Given the description of an element on the screen output the (x, y) to click on. 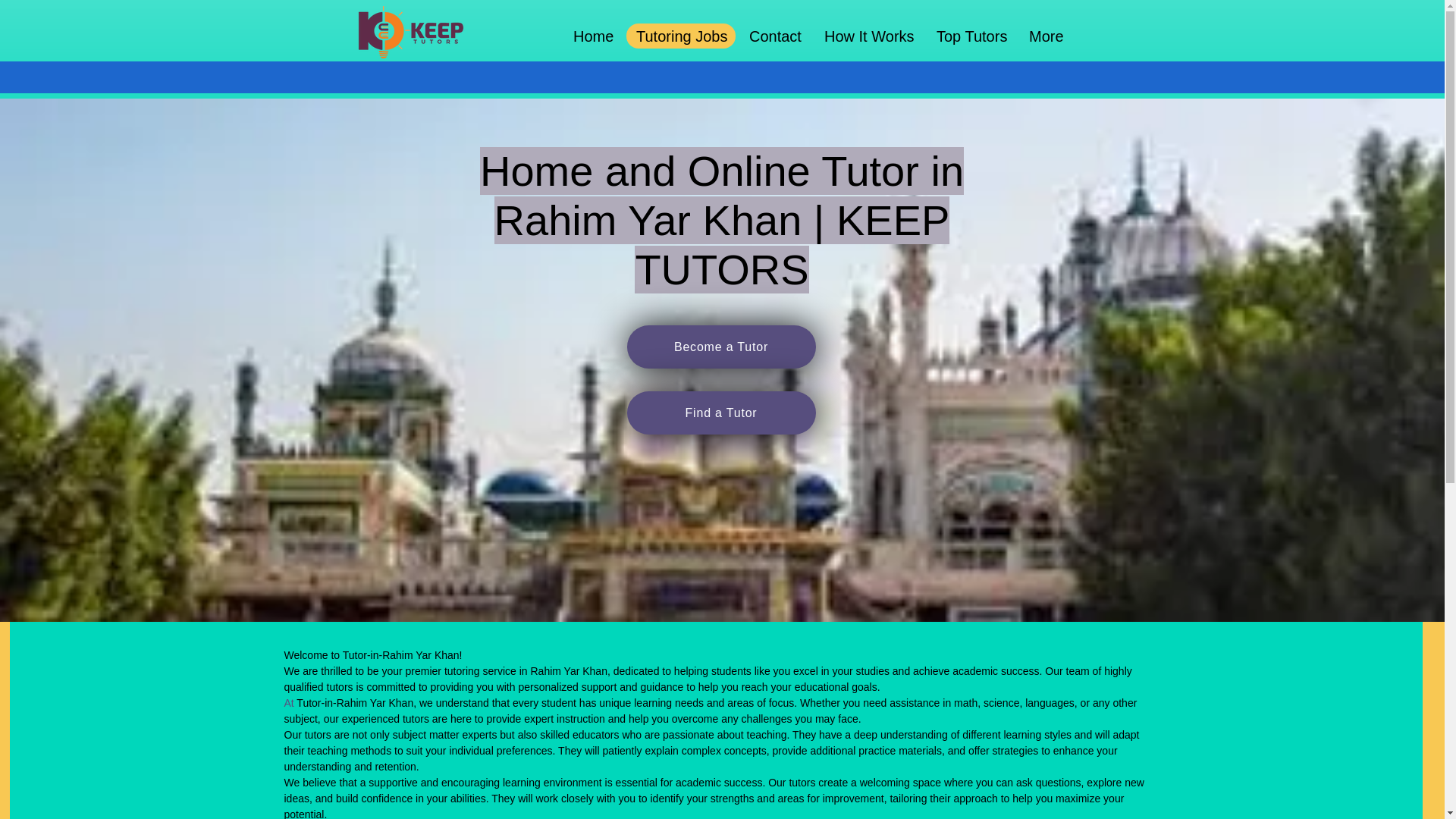
Home Button (409, 31)
Contact (775, 35)
Tutoring Jobs (681, 35)
Find a Tutor (720, 412)
Home (593, 35)
Become a Tutor (720, 346)
How It Works (868, 35)
Top Tutors (970, 35)
